Given the description of an element on the screen output the (x, y) to click on. 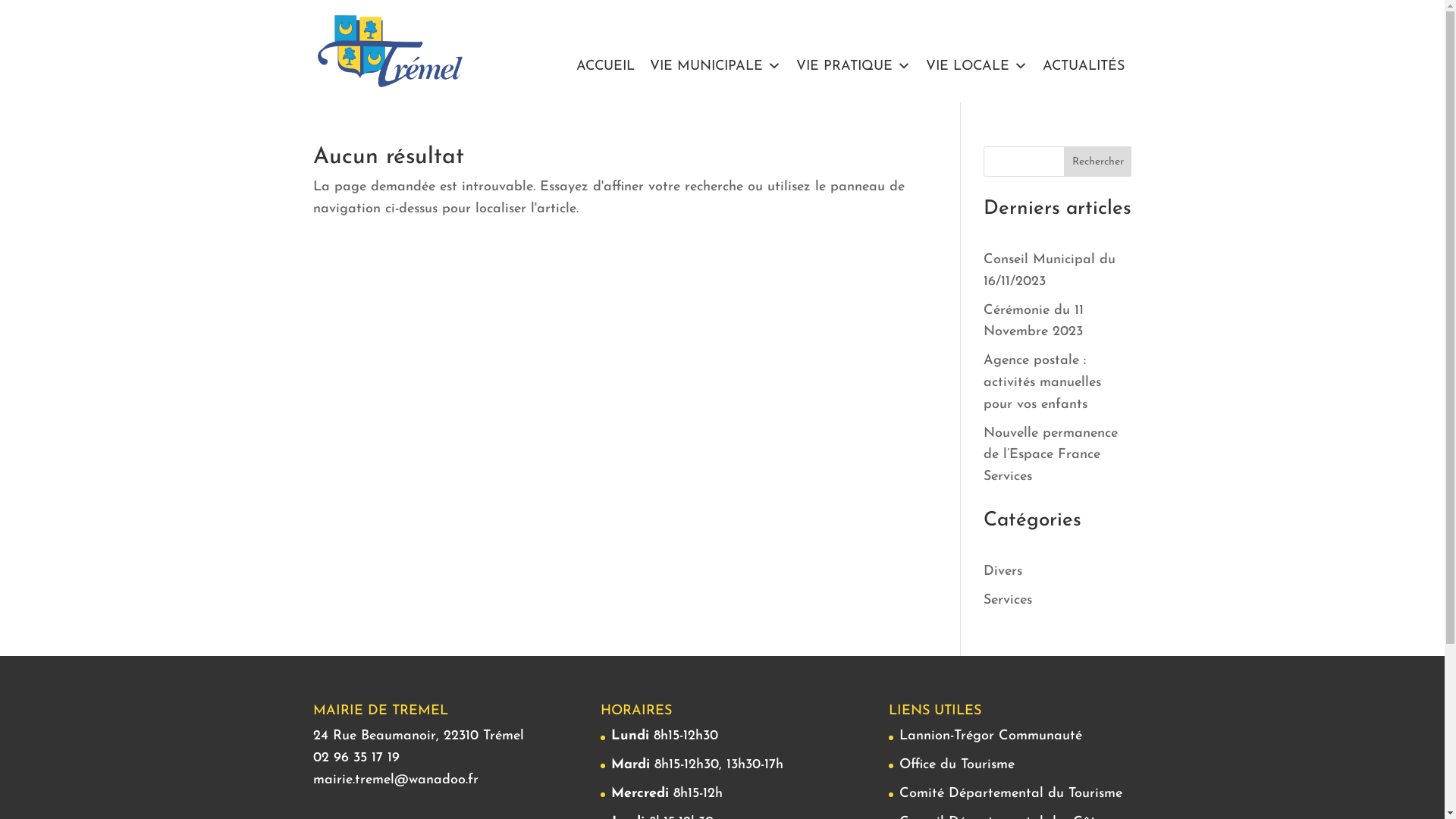
02 96 35 17 19 Element type: text (355, 757)
VIE LOCALE Element type: text (975, 65)
Office du Tourisme Element type: text (956, 764)
Divers Element type: text (1002, 571)
Conseil Municipal du 16/11/2023 Element type: text (1049, 270)
VIE MUNICIPALE Element type: text (714, 65)
Services Element type: text (1007, 600)
ACCUEIL Element type: text (605, 65)
VIE PRATIQUE Element type: text (853, 65)
Rechercher Element type: text (1097, 161)
mairie.tremel@wanadoo.fr Element type: text (394, 779)
